Given the description of an element on the screen output the (x, y) to click on. 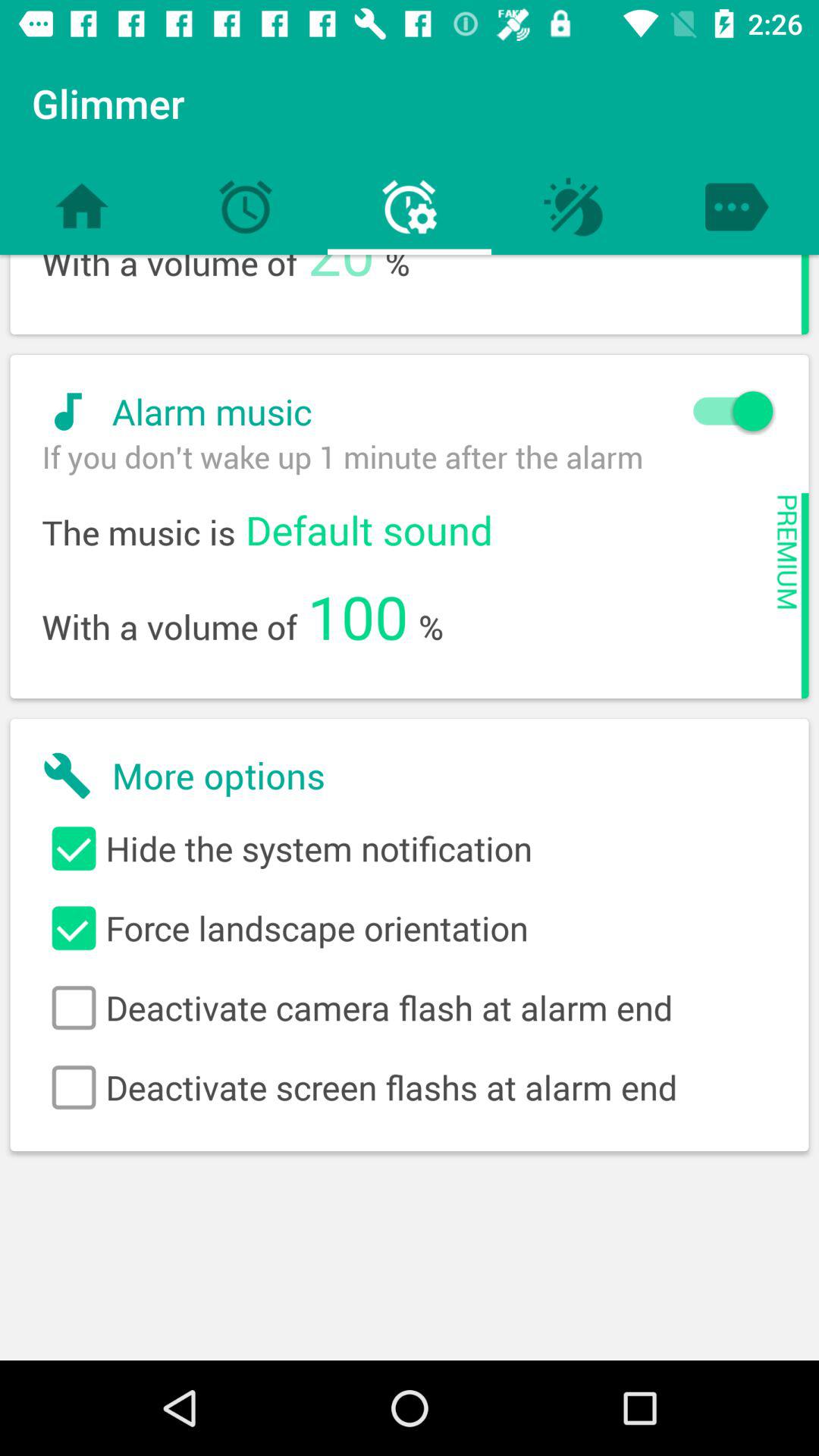
choose item next to the with a volume item (341, 278)
